Given the description of an element on the screen output the (x, y) to click on. 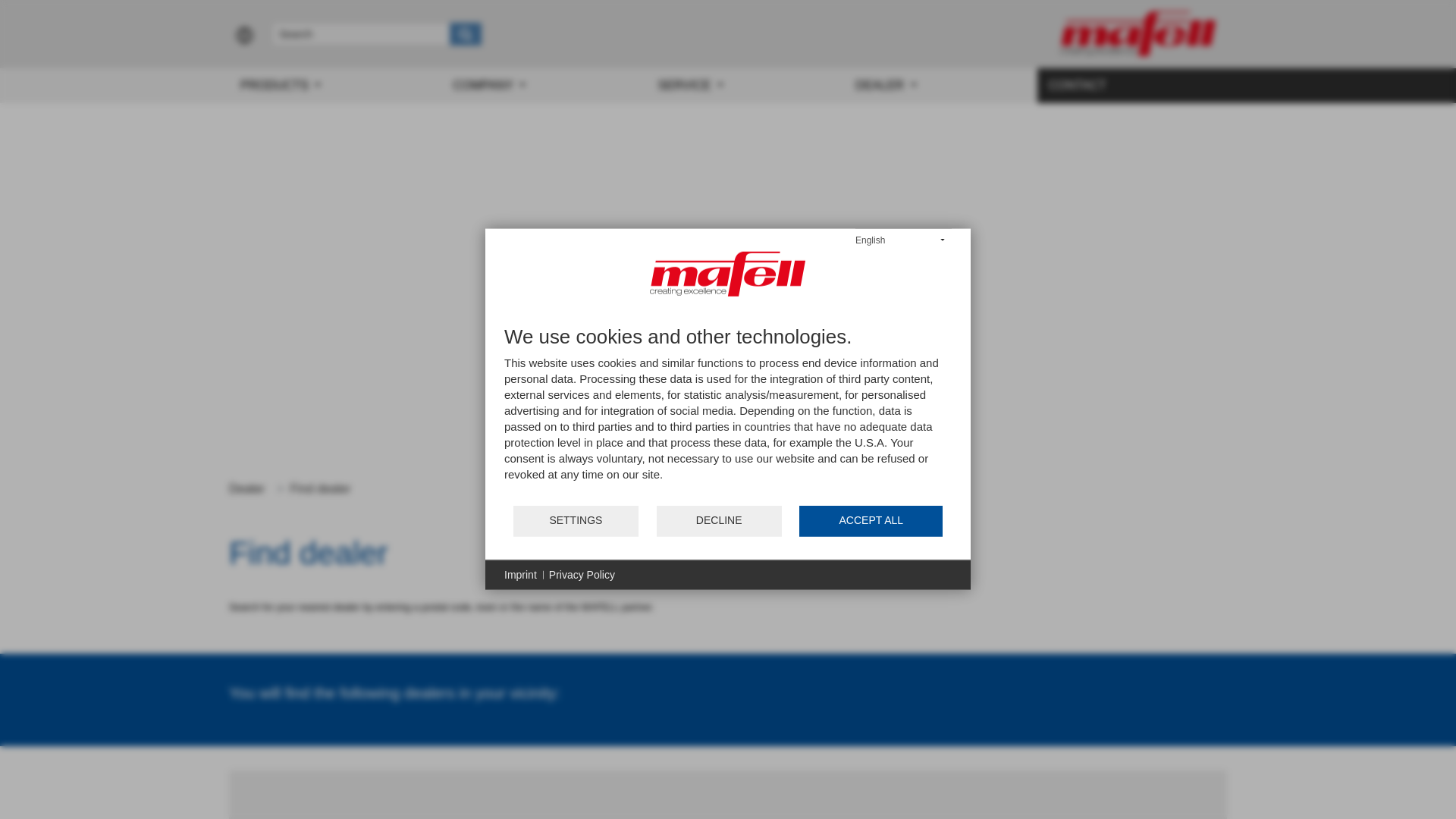
PRODUCTS  (334, 85)
CONTACT (1131, 85)
SERVICE  (745, 85)
COMPANY  (543, 85)
DEALER  (940, 85)
